Given the description of an element on the screen output the (x, y) to click on. 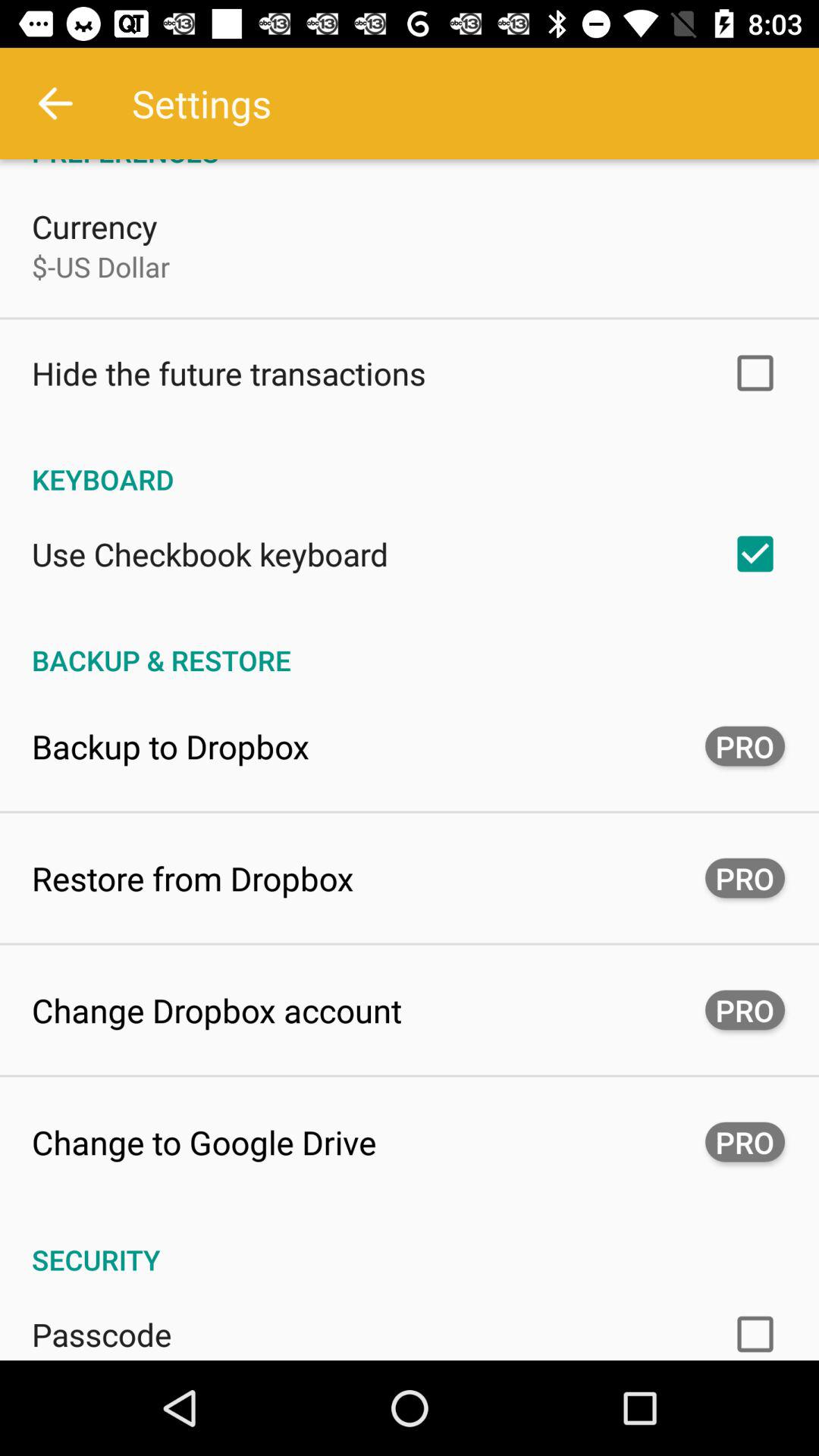
click the item below change to google icon (409, 1243)
